Given the description of an element on the screen output the (x, y) to click on. 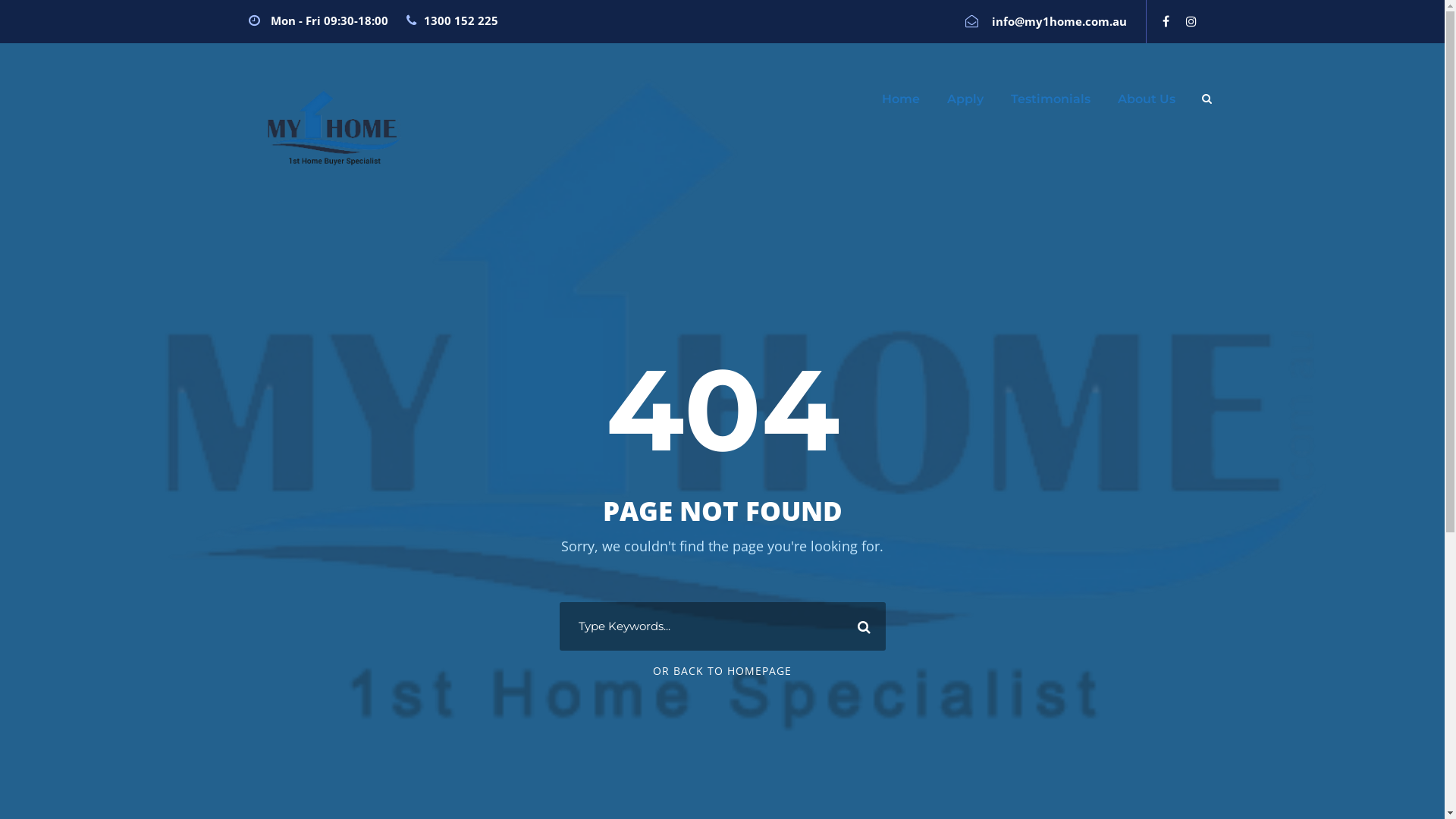
Search Element type: text (860, 626)
About Us Element type: text (1146, 106)
info@my1home.com.au Element type: text (1058, 20)
Apply Element type: text (964, 106)
logo my 1home (2) Element type: hover (331, 128)
Home Element type: text (900, 106)
instagram Element type: hover (1191, 20)
facebook Element type: hover (1164, 20)
OR BACK TO HOMEPAGE Element type: text (721, 670)
Testimonials Element type: text (1049, 106)
